Given the description of an element on the screen output the (x, y) to click on. 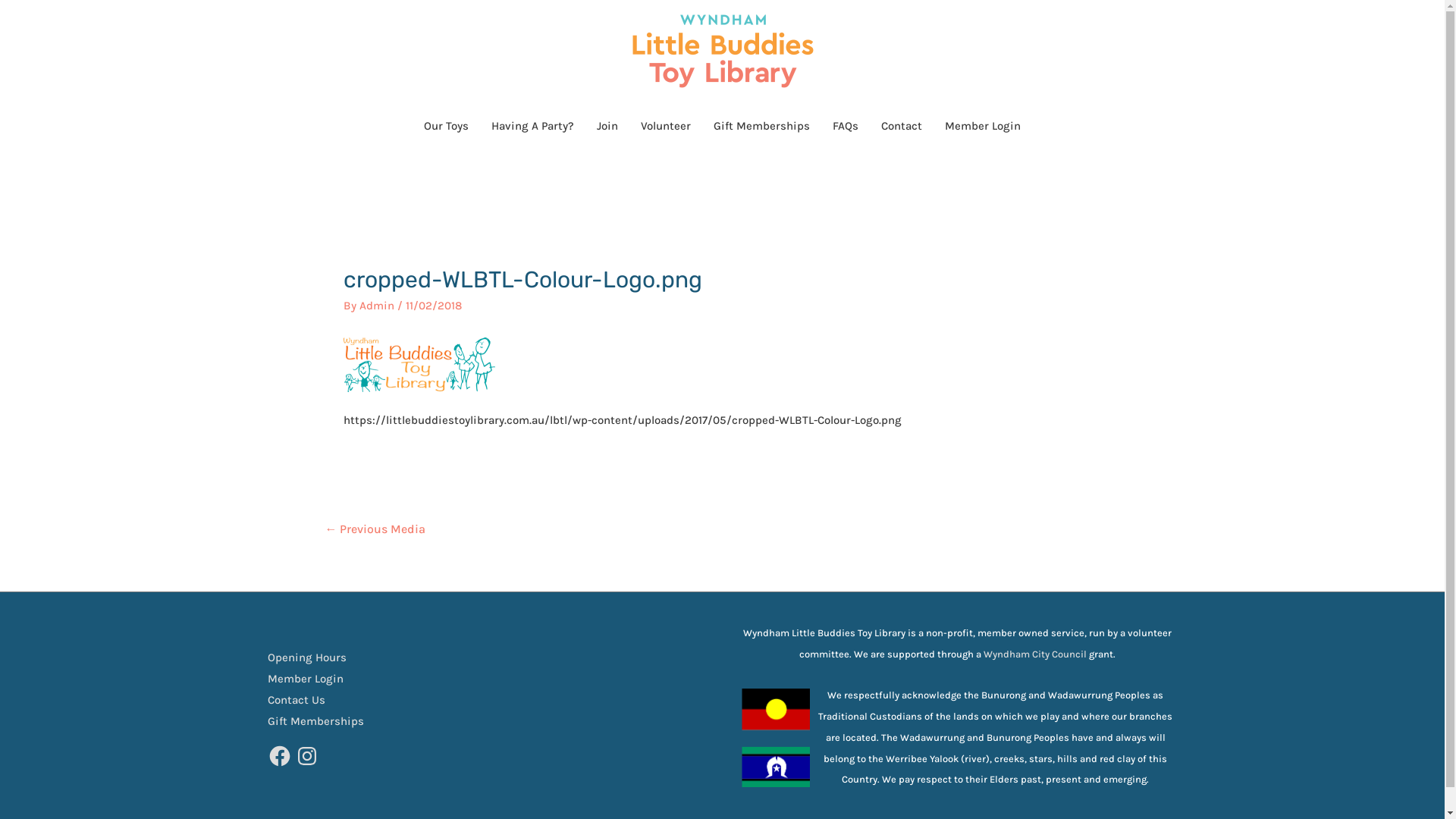
Join Element type: text (607, 125)
Instagram Element type: text (306, 755)
Opening Hours Element type: text (311, 657)
Member Login Element type: text (982, 125)
Volunteer Element type: text (665, 125)
Contact Us Element type: text (300, 699)
Admin Element type: text (378, 305)
Wyndham City Council Element type: text (1034, 653)
Gift Memberships Element type: text (320, 721)
Contact Element type: text (901, 125)
Our Toys Element type: text (446, 125)
Having A Party? Element type: text (532, 125)
Member Login Element type: text (310, 678)
Facebook Element type: text (278, 755)
FAQs Element type: text (845, 125)
Gift Memberships Element type: text (761, 125)
